Given the description of an element on the screen output the (x, y) to click on. 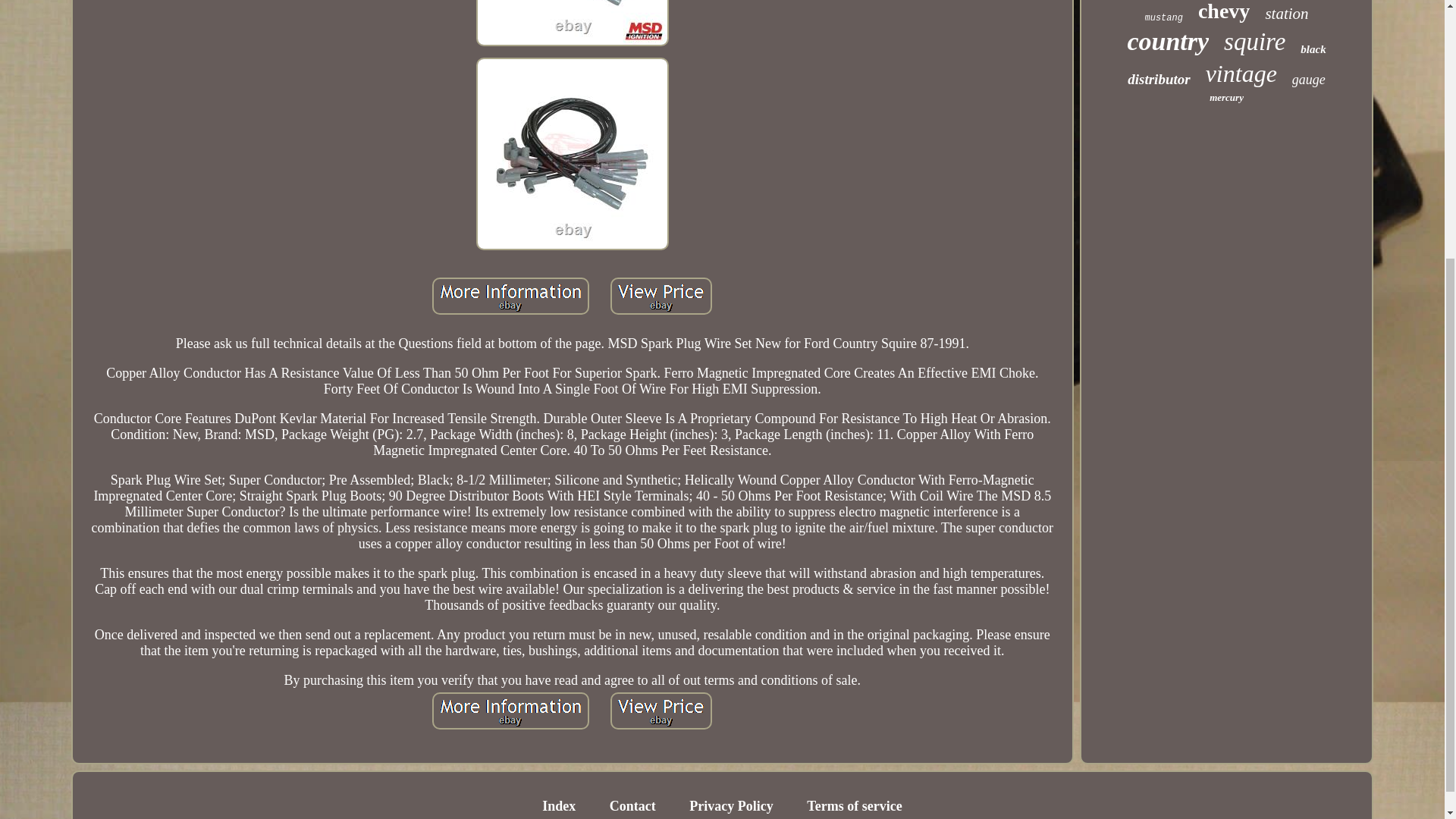
MSD Spark Plug Wire Set New for Ford Country Squire 87-1991 (572, 22)
MSD Spark Plug Wire Set New for Ford Country Squire 87-1991 (510, 710)
MSD Spark Plug Wire Set New for Ford Country Squire 87-1991 (660, 710)
MSD Spark Plug Wire Set New for Ford Country Squire 87-1991 (660, 295)
MSD Spark Plug Wire Set New for Ford Country Squire 87-1991 (510, 295)
MSD Spark Plug Wire Set New for Ford Country Squire 87-1991 (572, 153)
